Given the description of an element on the screen output the (x, y) to click on. 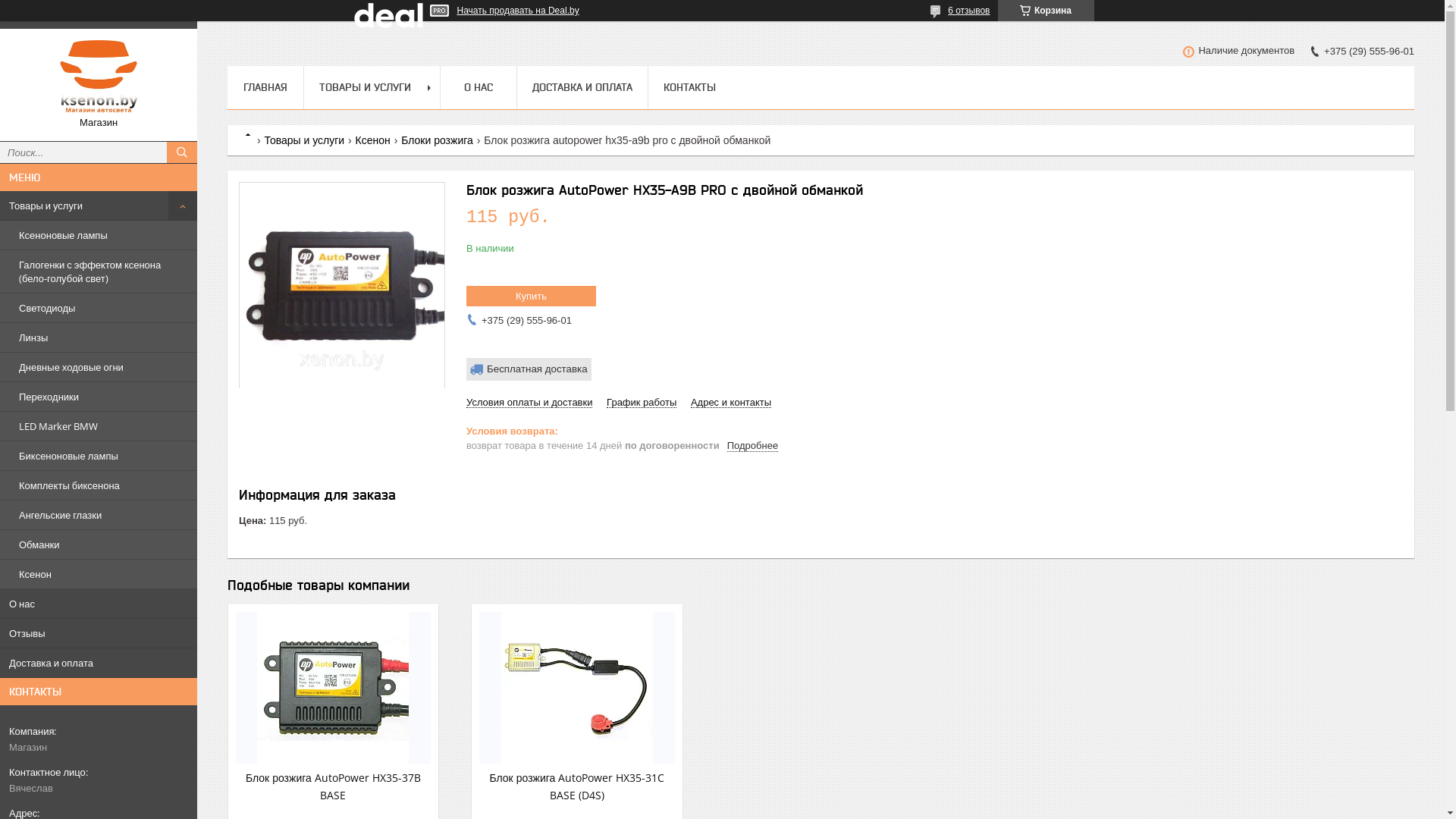
LED Marker BMW Element type: text (98, 426)
